Given the description of an element on the screen output the (x, y) to click on. 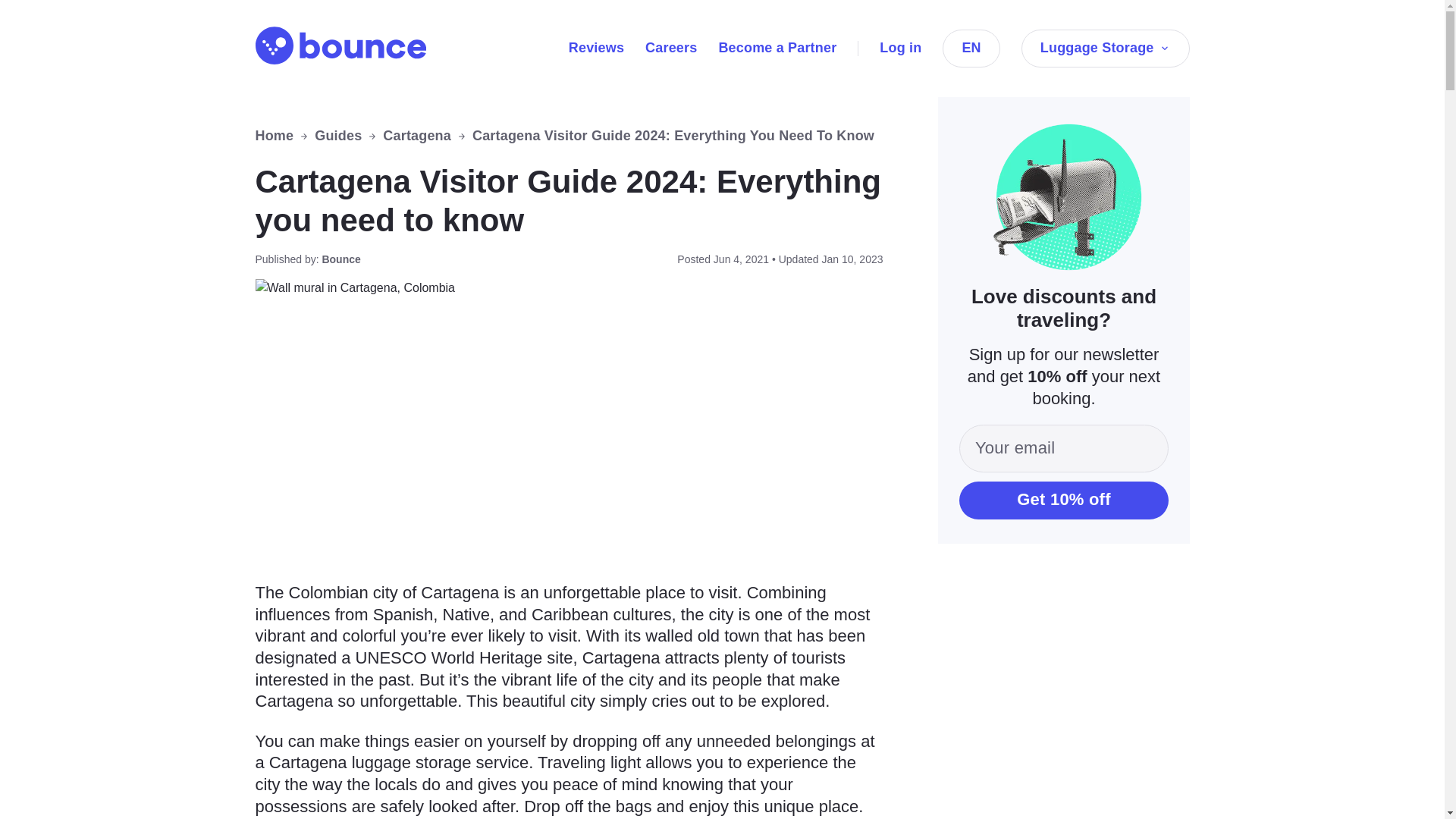
Luggage Storage (1105, 48)
Home (274, 135)
Careers (671, 47)
Reviews (596, 47)
Cartagena (416, 135)
Guides (337, 135)
Become a Partner (776, 47)
EN (970, 48)
Log in (900, 47)
Bounce (339, 45)
